Given the description of an element on the screen output the (x, y) to click on. 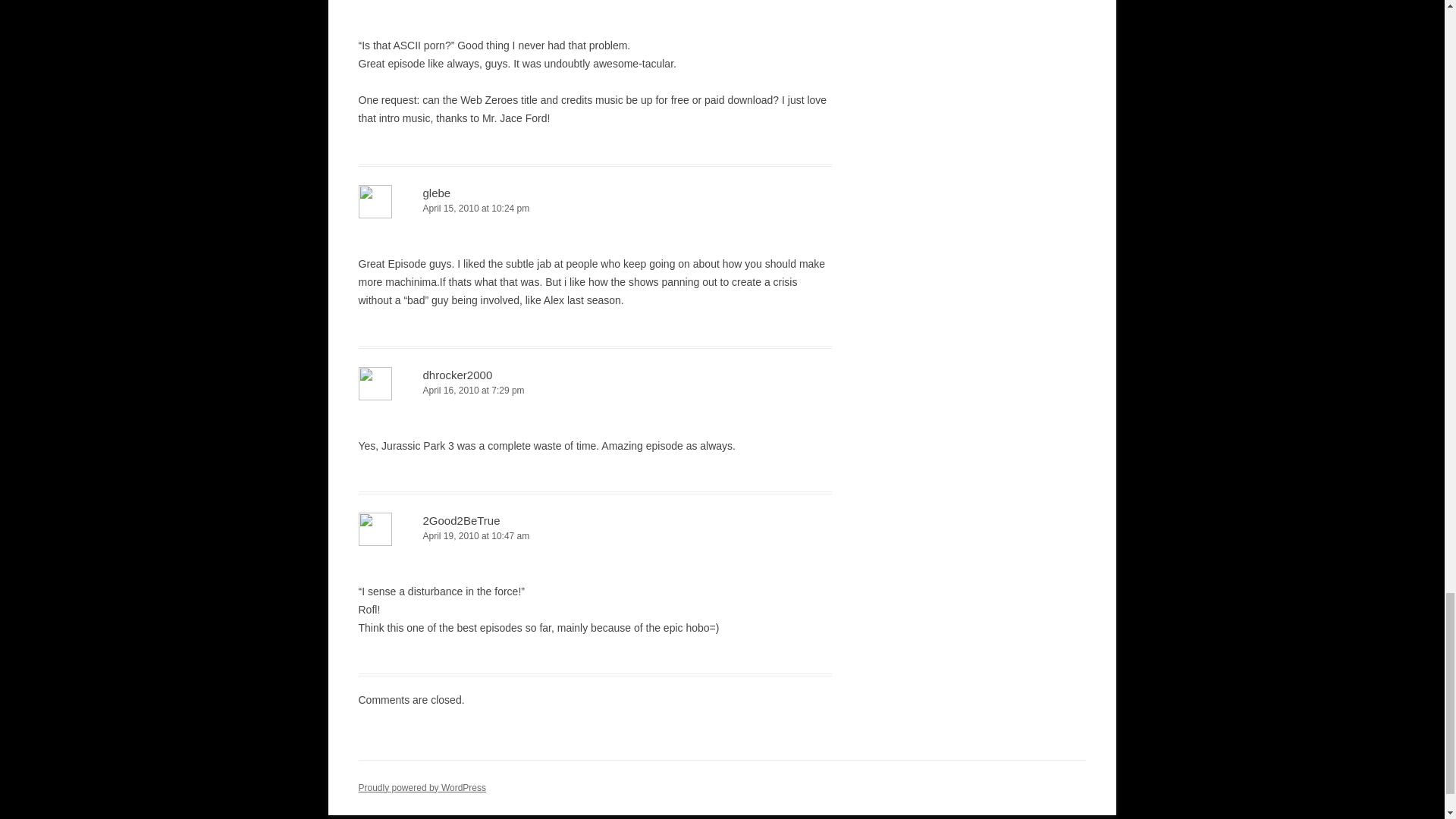
April 19, 2010 at 10:47 am (594, 536)
April 16, 2010 at 7:29 pm (594, 390)
Semantic Personal Publishing Platform (422, 787)
April 15, 2010 at 10:24 pm (594, 208)
glebe (437, 192)
